Given the description of an element on the screen output the (x, y) to click on. 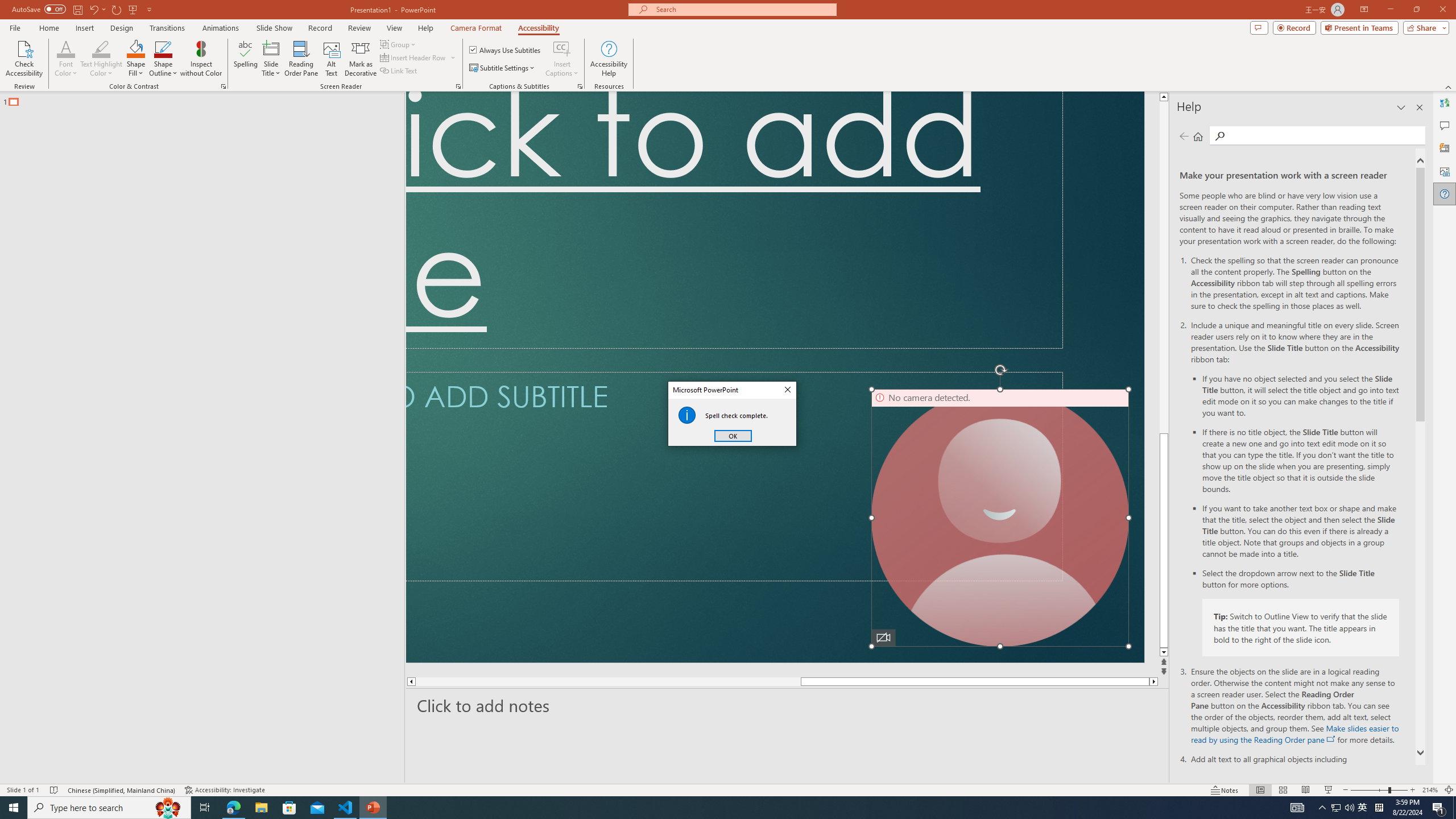
Reading Order Pane (301, 58)
Insert Header Row (418, 56)
openinnewwindow (1330, 739)
Mark as Decorative (360, 58)
